Given the description of an element on the screen output the (x, y) to click on. 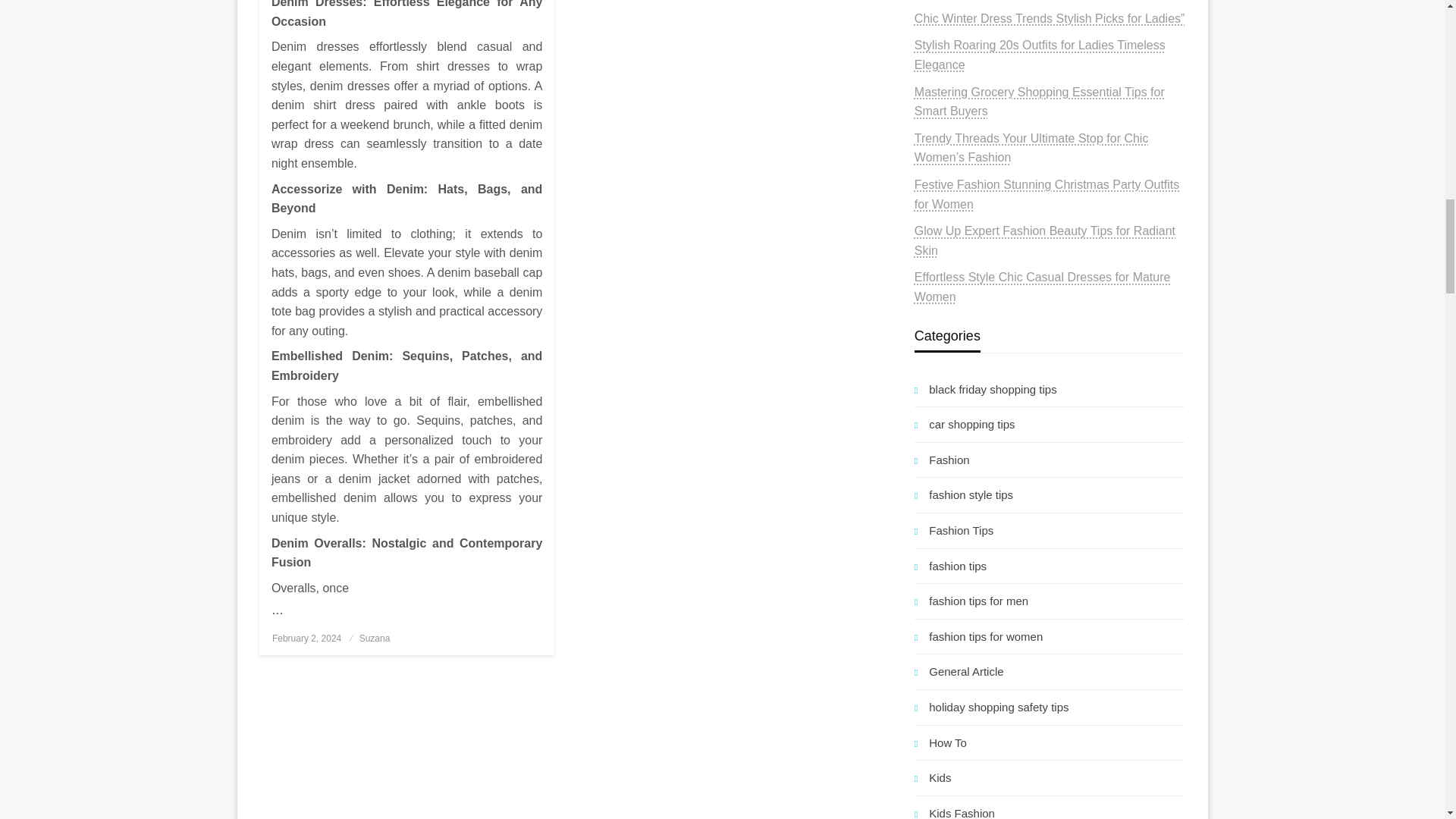
February 2, 2024 (306, 638)
Suzana (374, 638)
Suzana (374, 638)
